Given the description of an element on the screen output the (x, y) to click on. 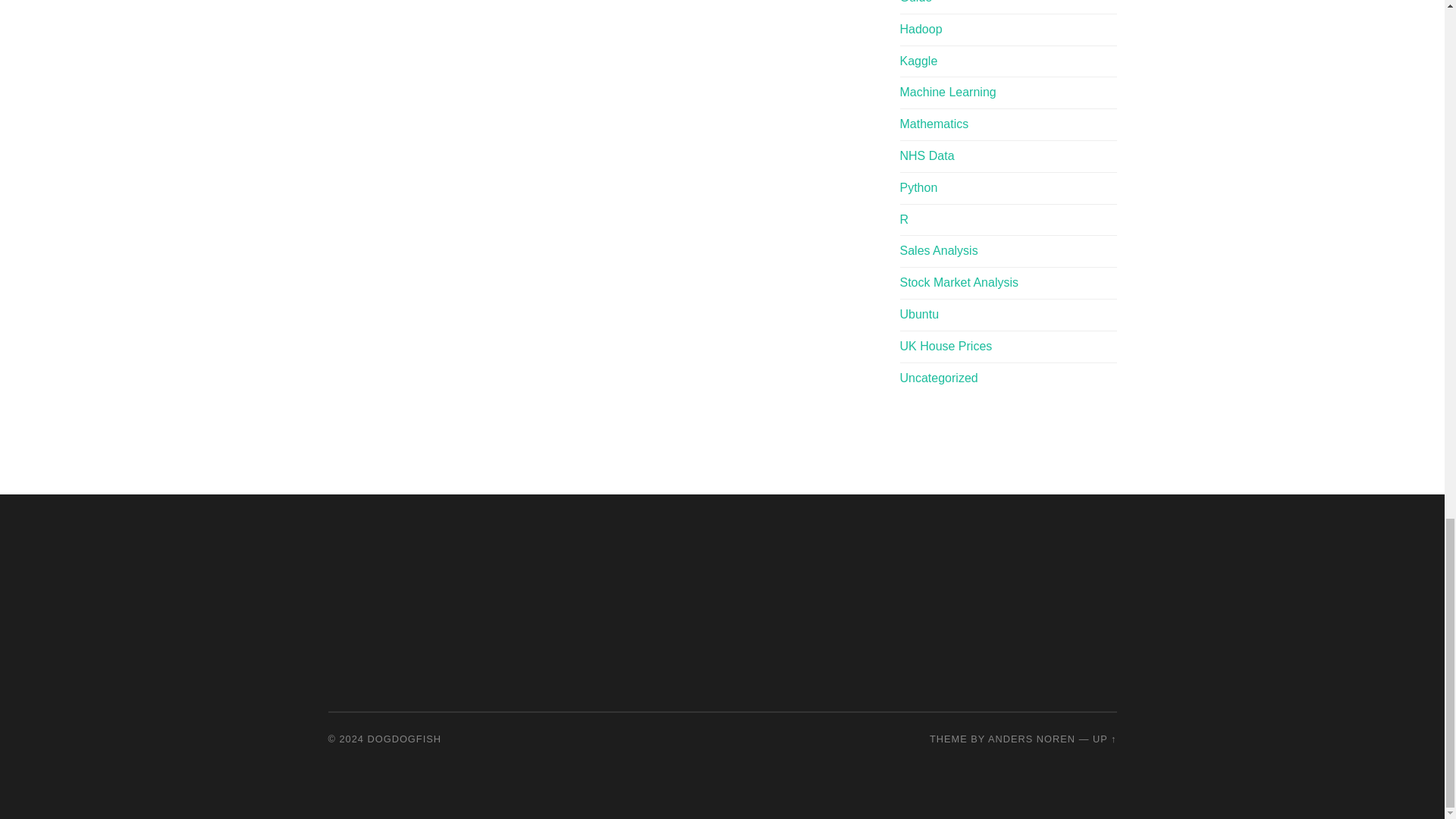
Guide (915, 2)
DOGDOGFISH (404, 738)
Stock Market Analysis (958, 282)
Ubuntu (919, 314)
Kaggle (918, 60)
Mathematics (933, 123)
Python (918, 187)
NHS Data (926, 155)
To the top (1104, 738)
Uncategorized (937, 377)
